Given the description of an element on the screen output the (x, y) to click on. 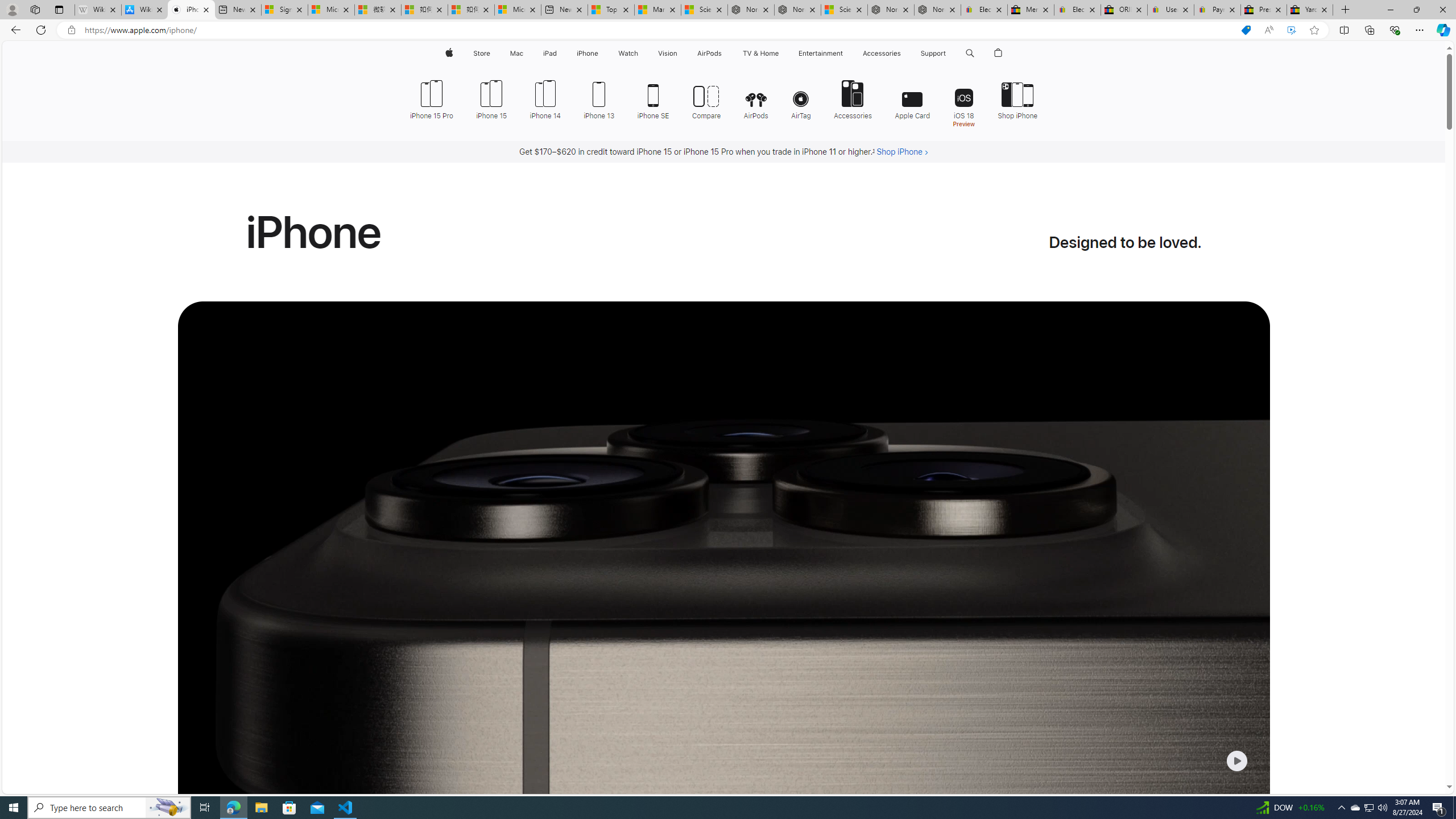
iPhone 13 (599, 98)
Class: control-centered-small-icon (1236, 760)
iPhone 15 Pro (430, 98)
Apple Card (911, 98)
Class: globalnav-item globalnav-search shift-0-1 (969, 53)
Compare (705, 98)
Play welcome animation video (1236, 761)
iPhone 15 (491, 98)
iPhone 14 (545, 98)
iPad (550, 53)
Vision menu (678, 53)
